Given the description of an element on the screen output the (x, y) to click on. 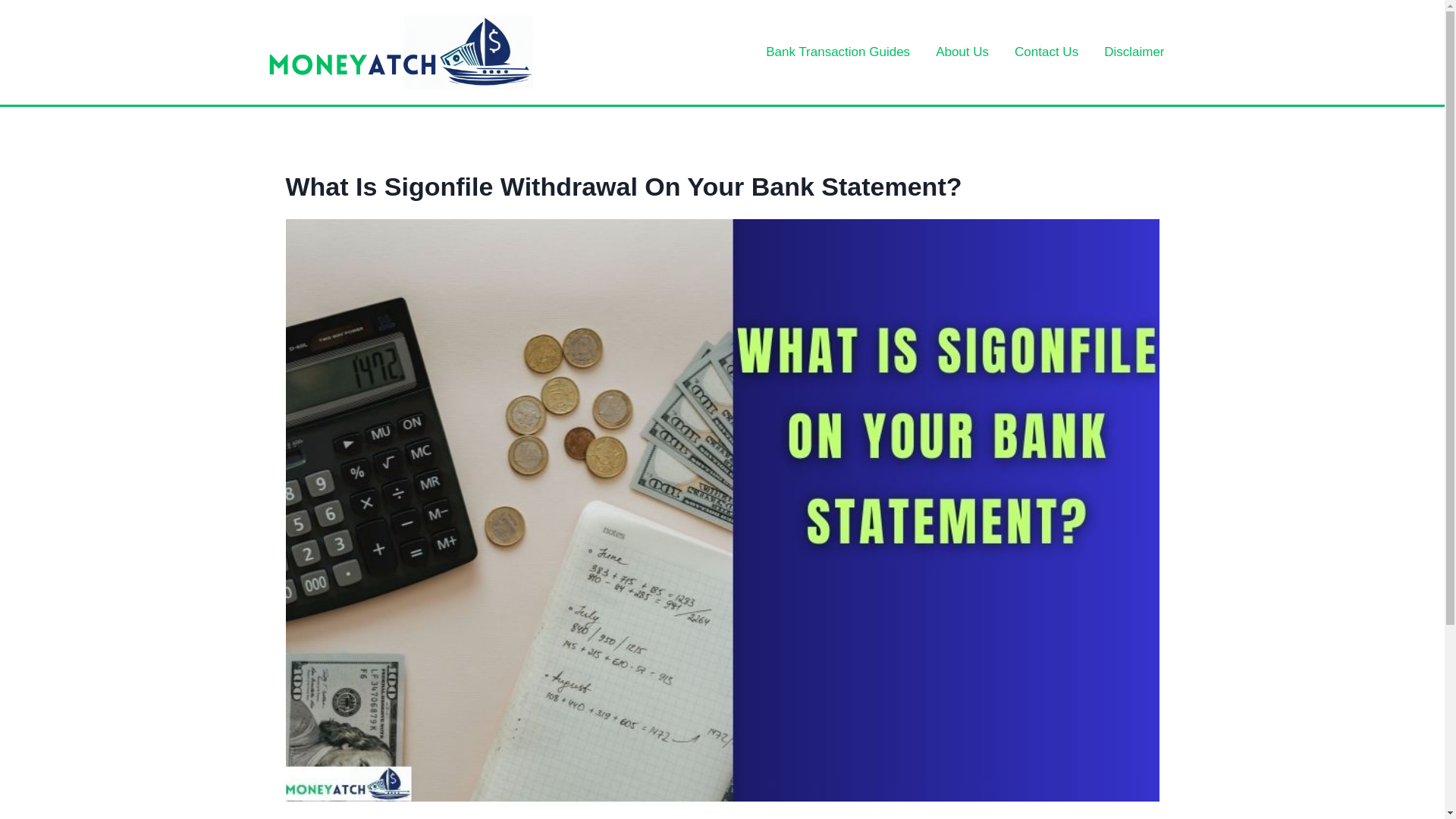
Disclaimer (1133, 51)
Contact Us (1045, 51)
Bank Transaction Guides (837, 51)
About Us (962, 51)
